Given the description of an element on the screen output the (x, y) to click on. 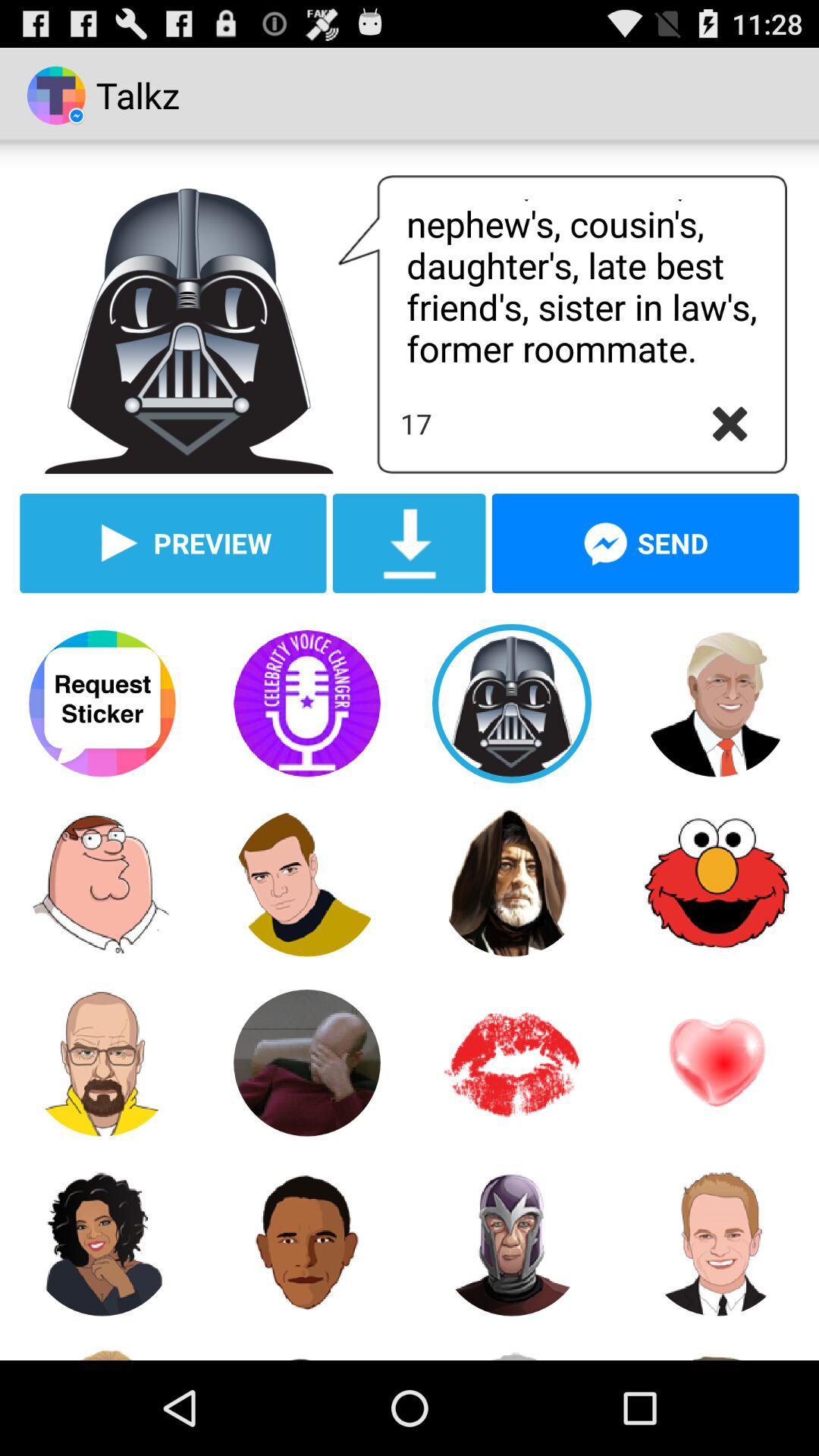
close text box (729, 423)
